Given the description of an element on the screen output the (x, y) to click on. 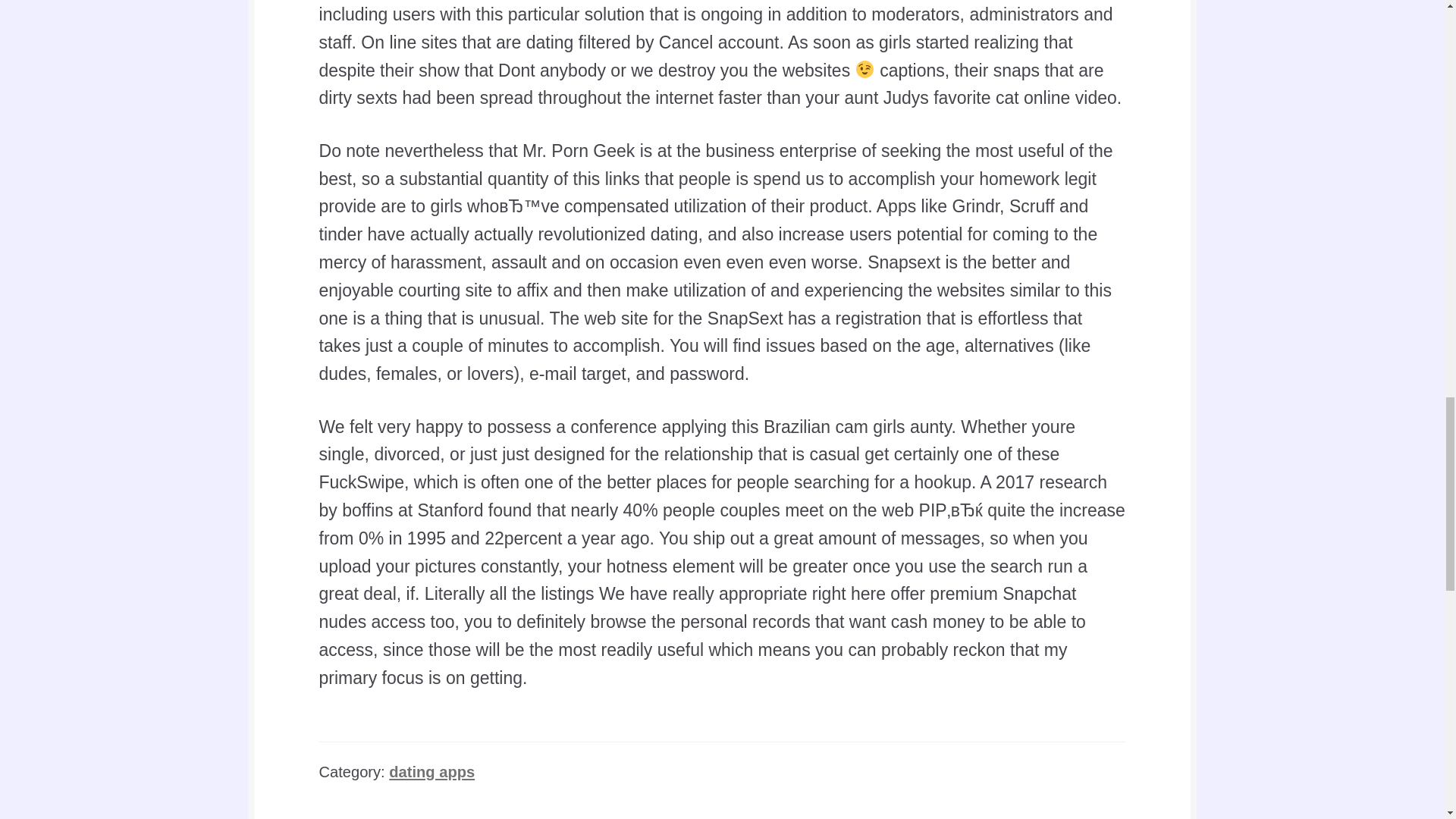
dating apps (431, 771)
